Given the description of an element on the screen output the (x, y) to click on. 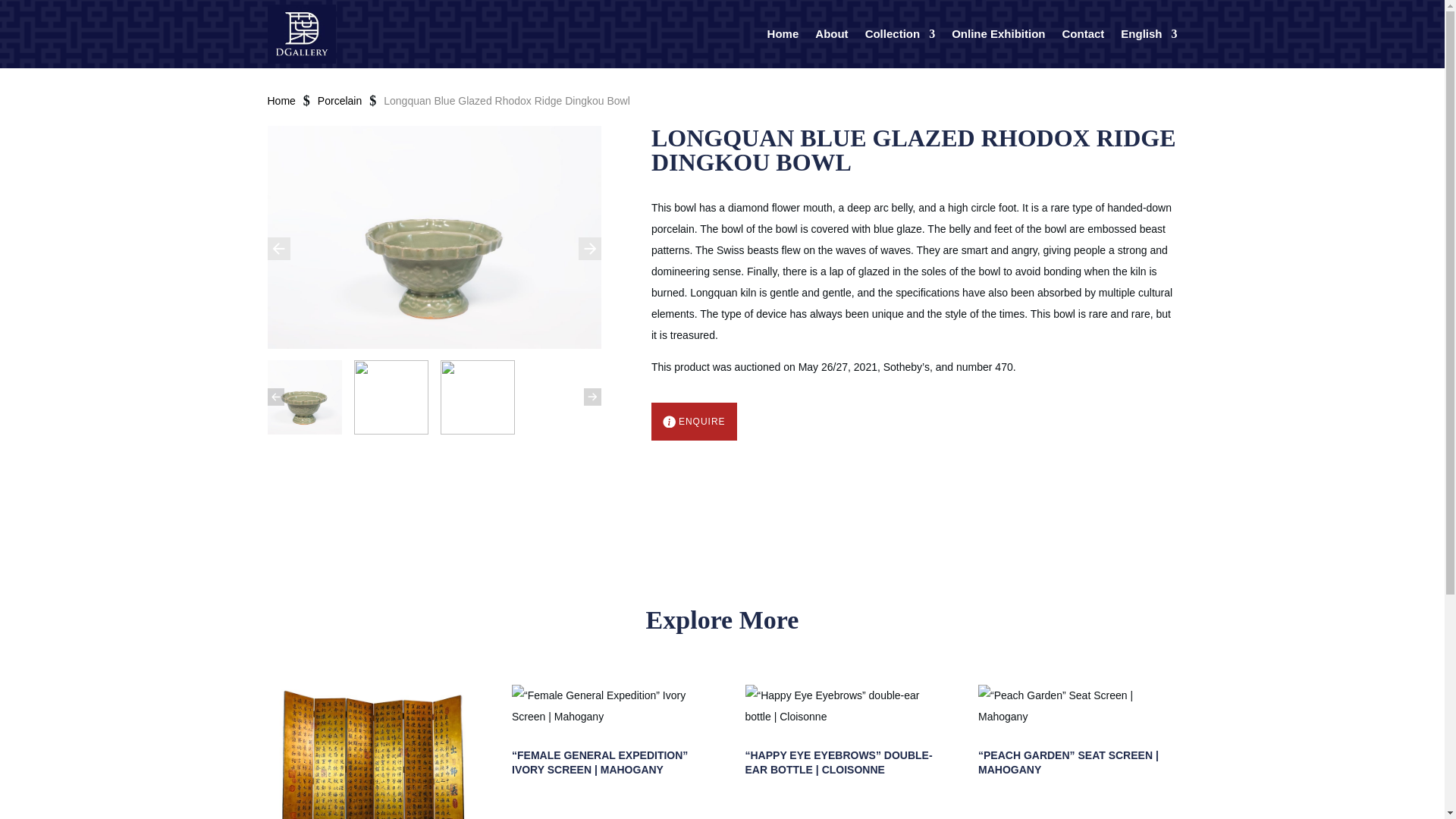
ENQUIRE (693, 421)
English (1148, 33)
Porcelain (339, 100)
Home (280, 100)
Collection (900, 33)
Online Exhibition (998, 33)
